Given the description of an element on the screen output the (x, y) to click on. 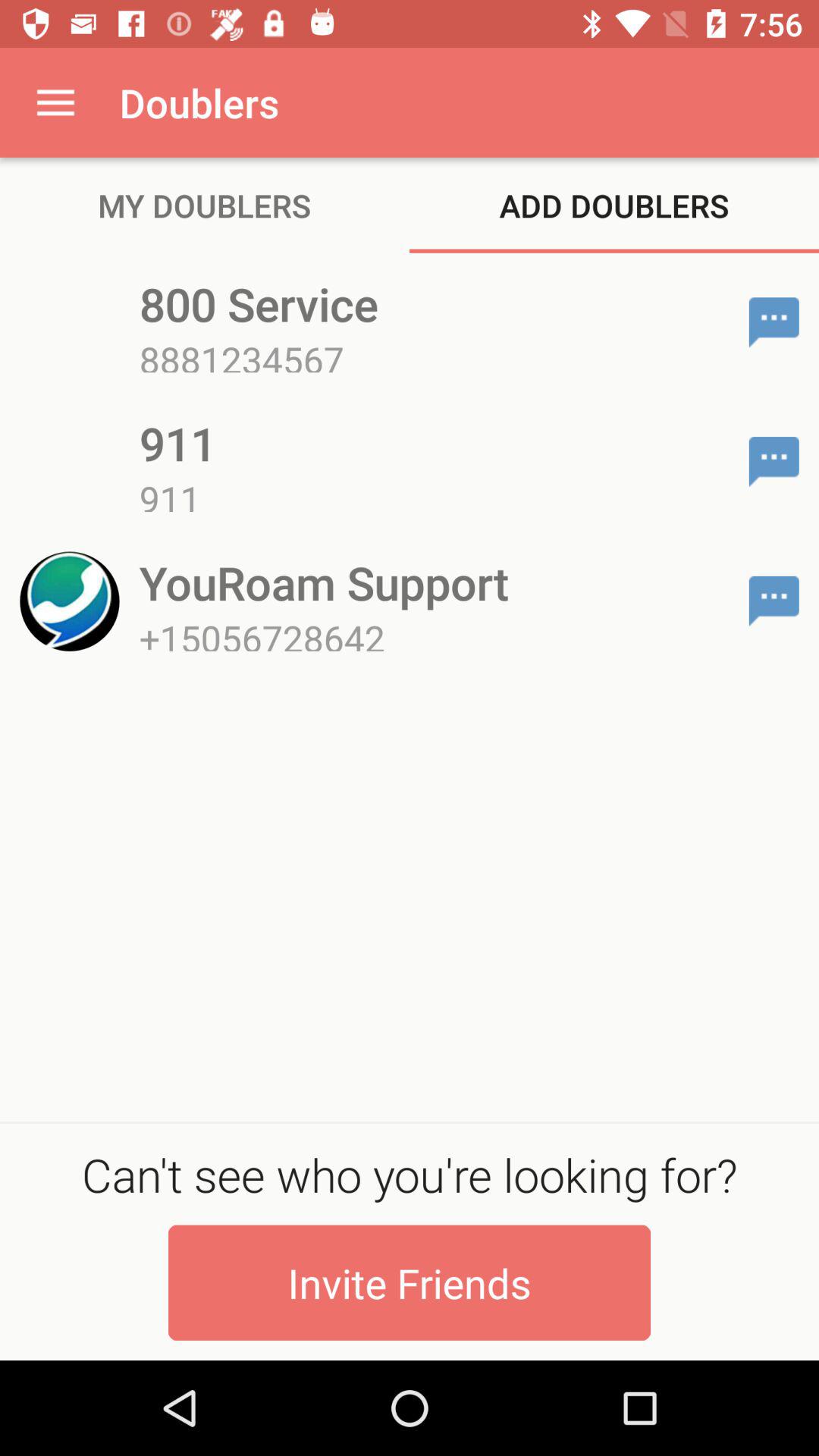
chat (774, 601)
